Given the description of an element on the screen output the (x, y) to click on. 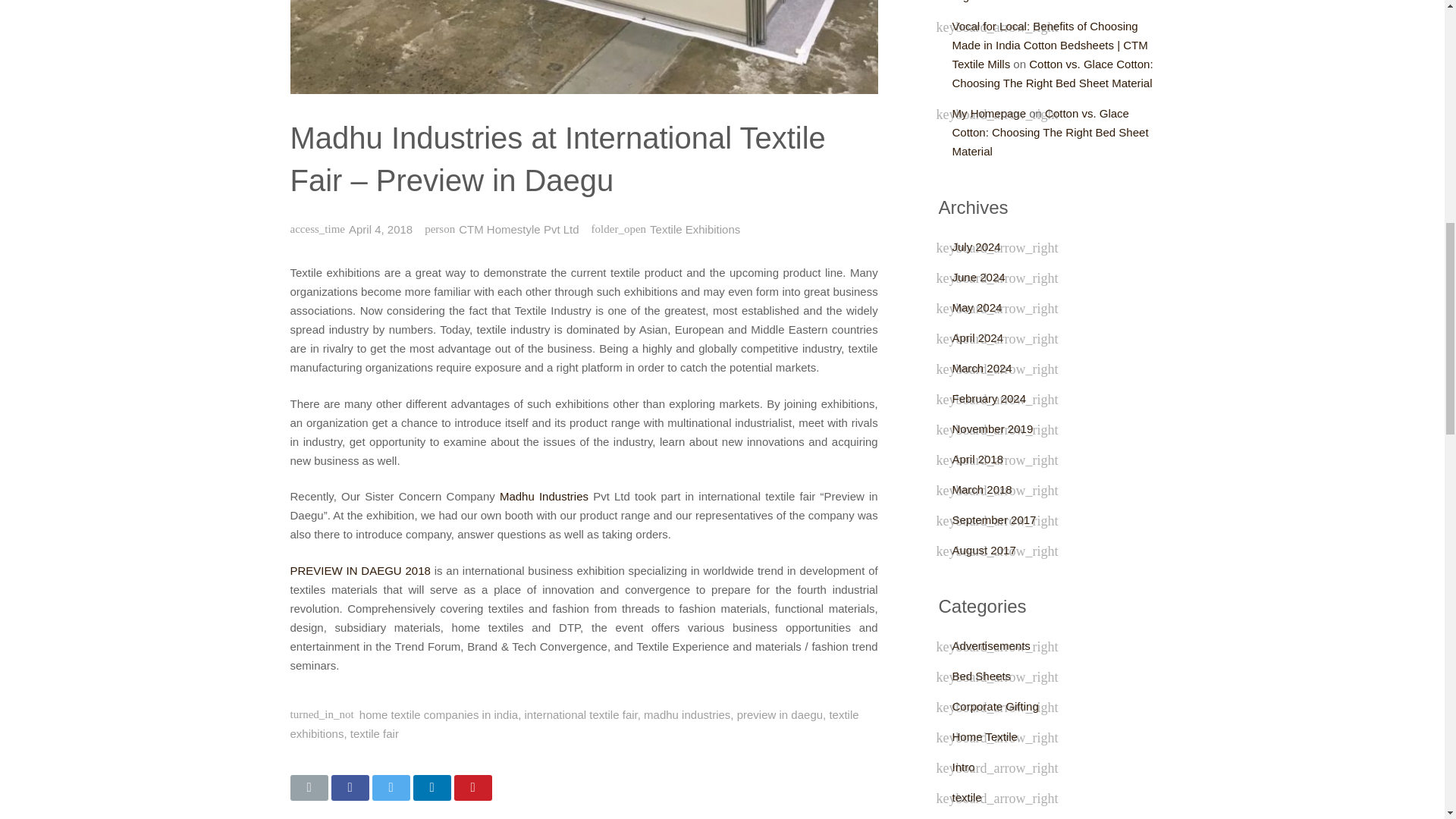
preview in daegu (779, 714)
home textile companies in india (438, 714)
Back to top (1411, 21)
textile fair (374, 733)
Textile Exhibitions (694, 228)
PREVIEW IN DAEGU 2018 (359, 570)
Email this (308, 787)
textile exhibitions (574, 724)
Tweet this (390, 787)
Share this (349, 787)
Madhu Industries (543, 495)
CTM Homestyle Pvt Ltd (518, 228)
international textile fair (580, 714)
Share this (430, 787)
Pin this (472, 787)
